Given the description of an element on the screen output the (x, y) to click on. 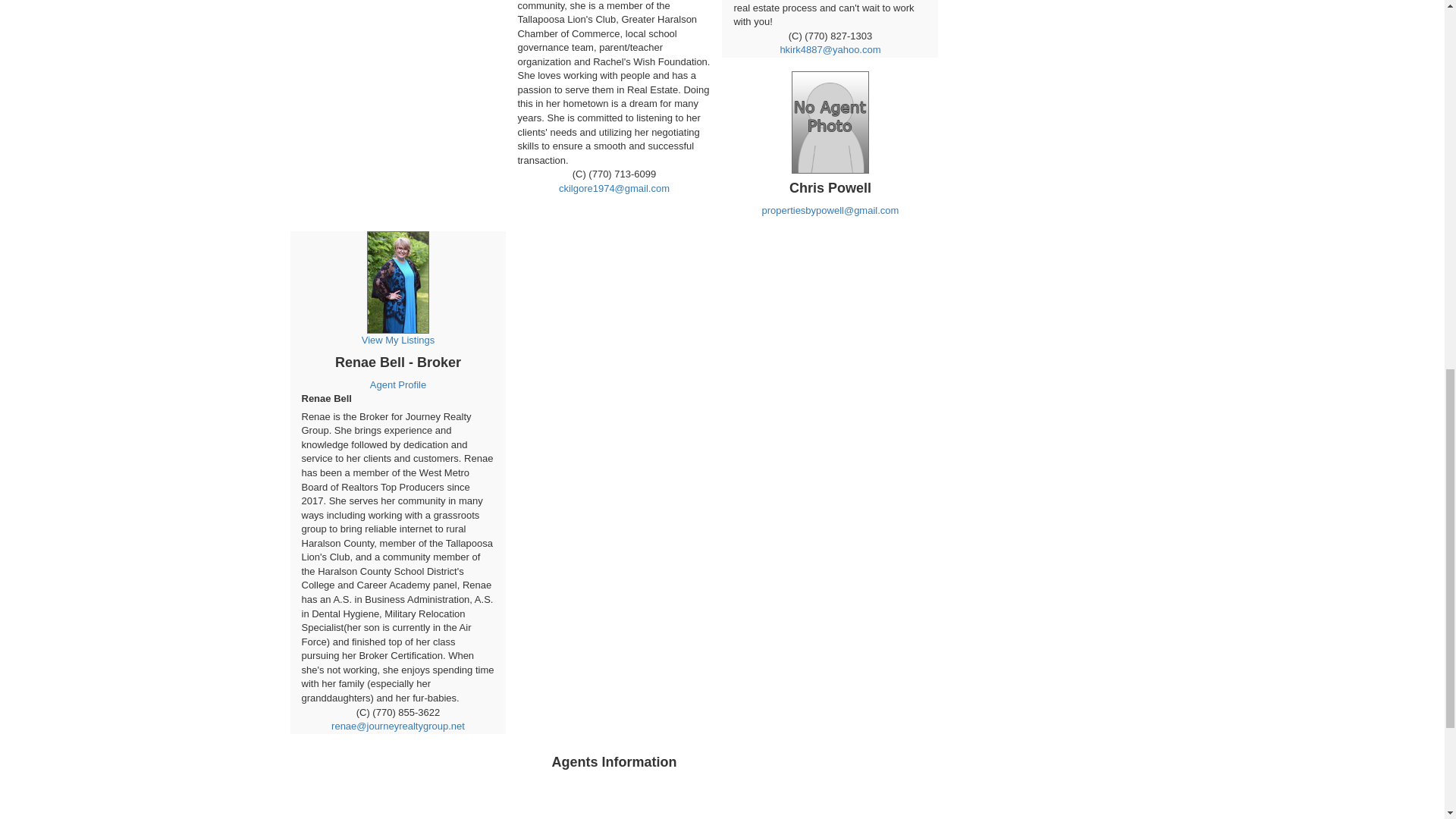
Agent Profile (397, 384)
View My Listings (398, 312)
Christy Kilgore (613, 83)
Heather Kirk (829, 14)
